Given the description of an element on the screen output the (x, y) to click on. 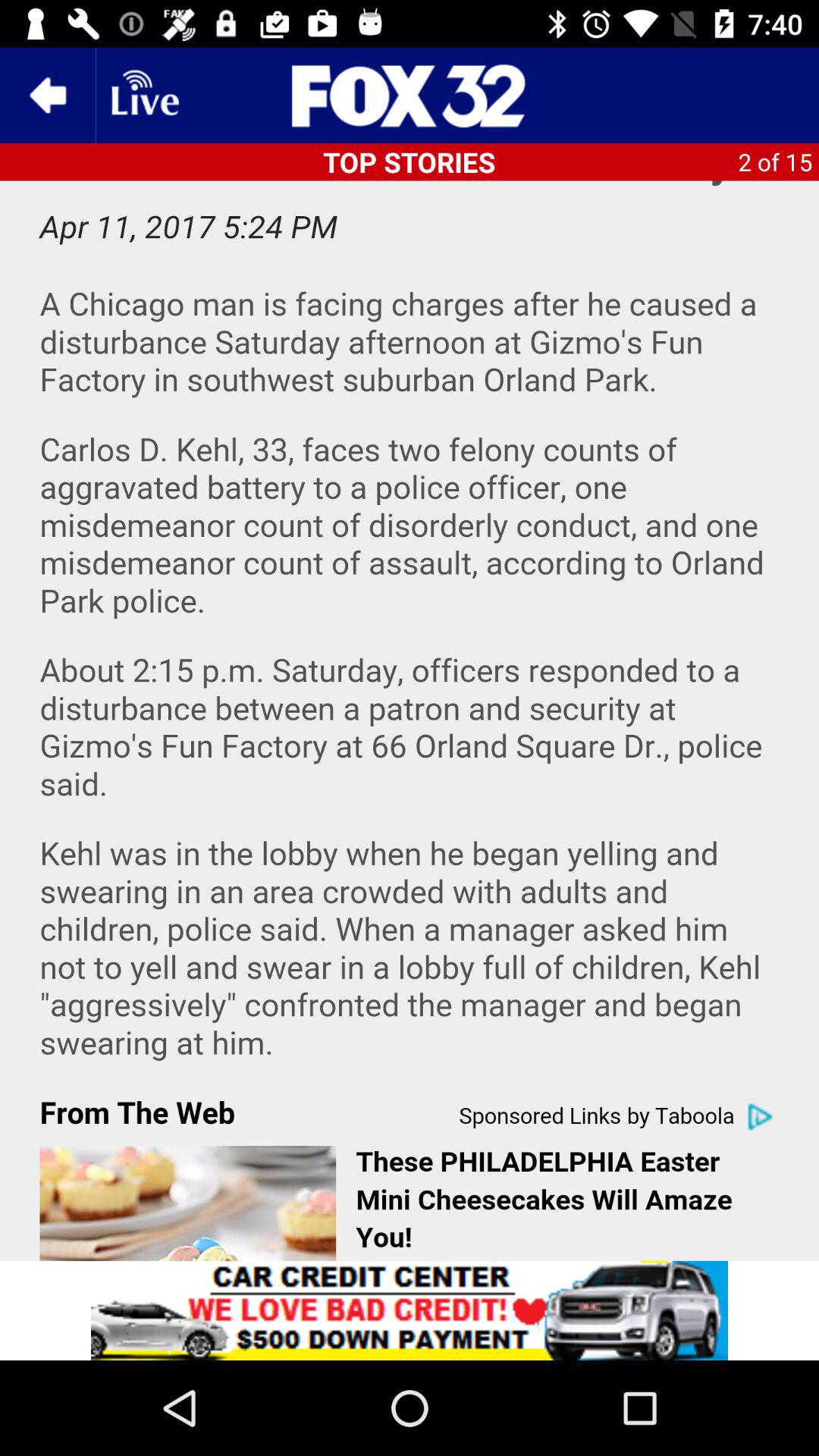
back screen (47, 95)
